Given the description of an element on the screen output the (x, y) to click on. 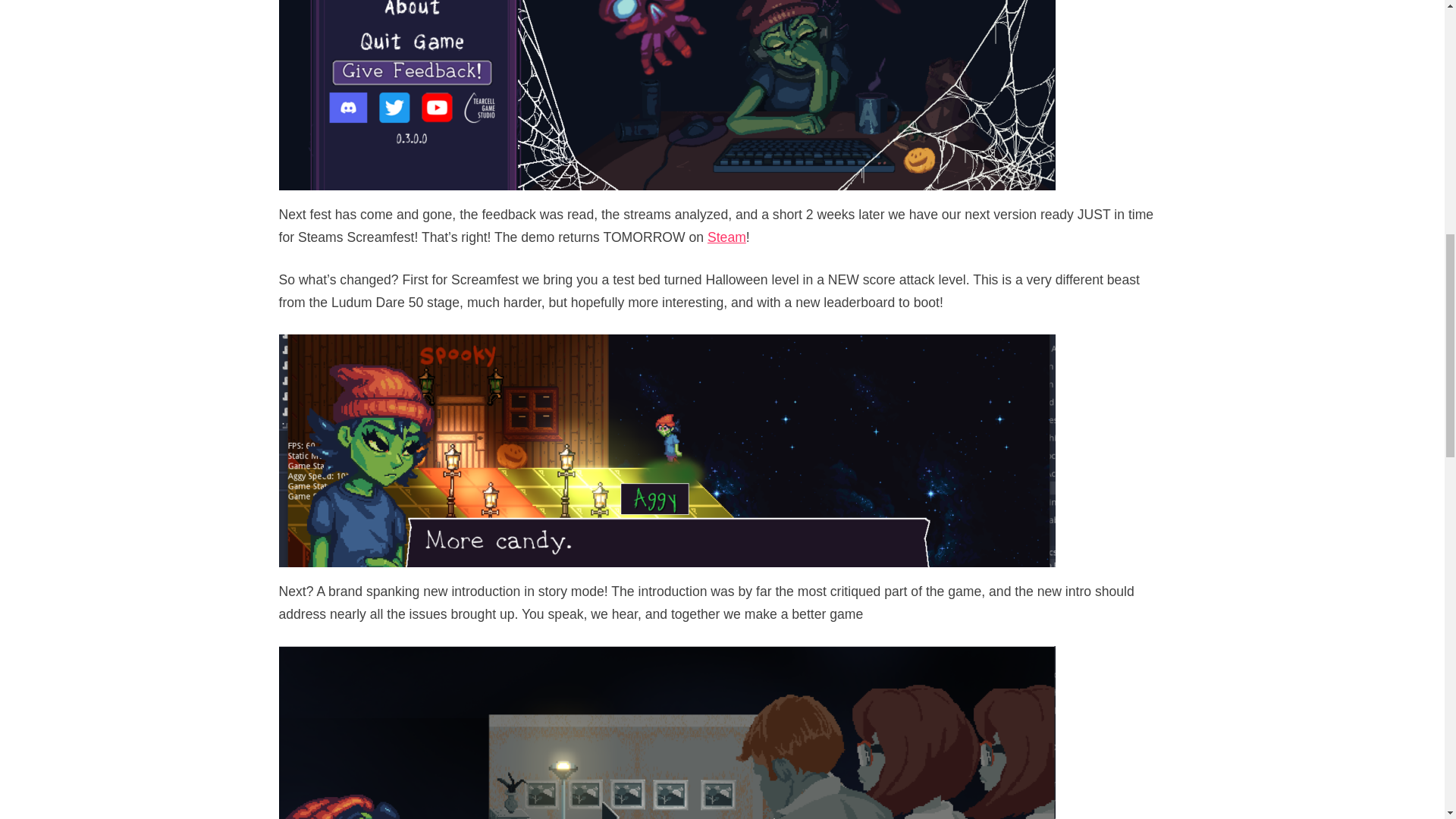
Steam (726, 237)
